Given the description of an element on the screen output the (x, y) to click on. 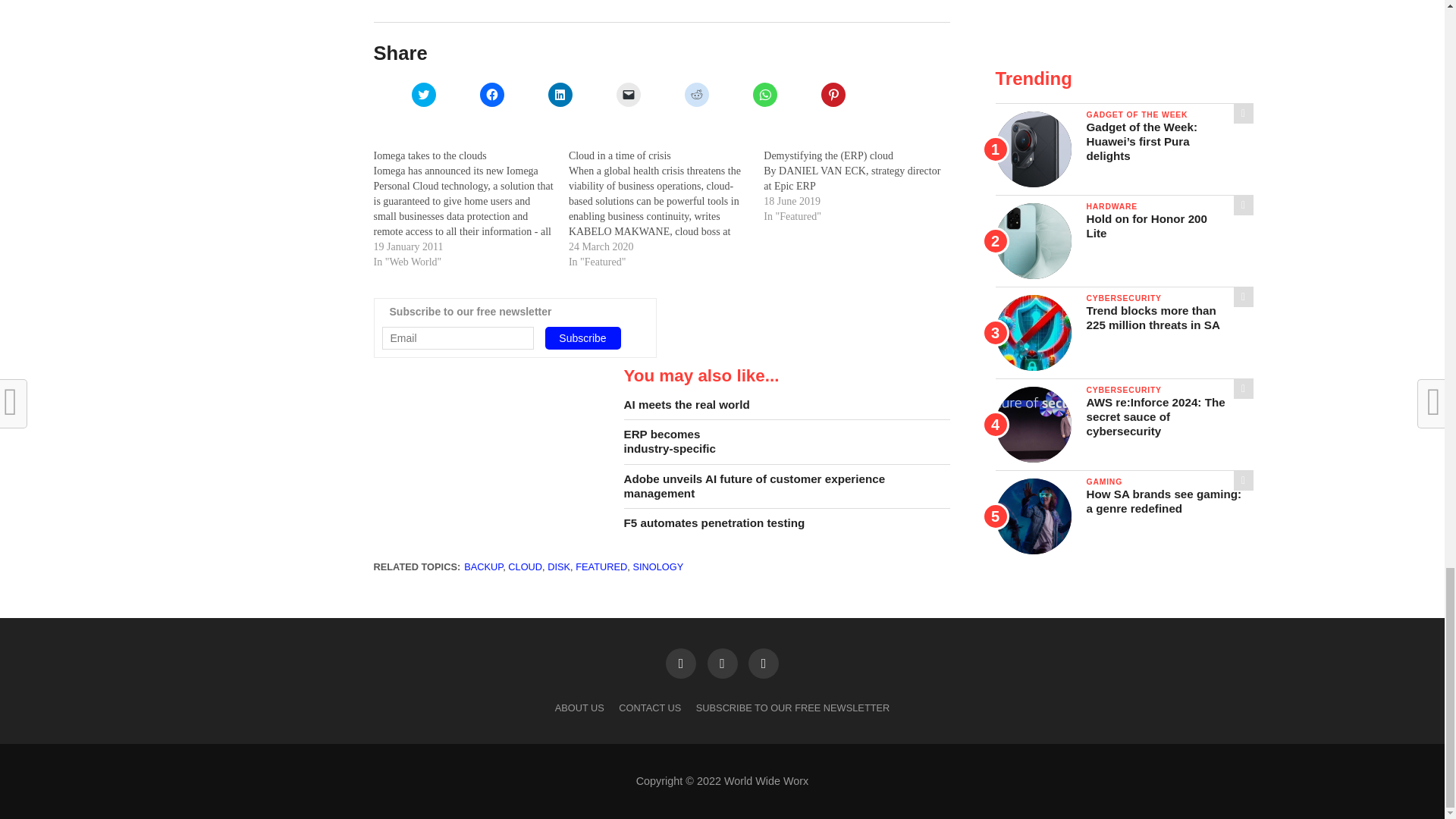
Click to share on Facebook (491, 94)
Click to email a link to a friend (627, 94)
Subscribe (582, 337)
Click to share on Twitter (422, 94)
Click to share on LinkedIn (559, 94)
